Given the description of an element on the screen output the (x, y) to click on. 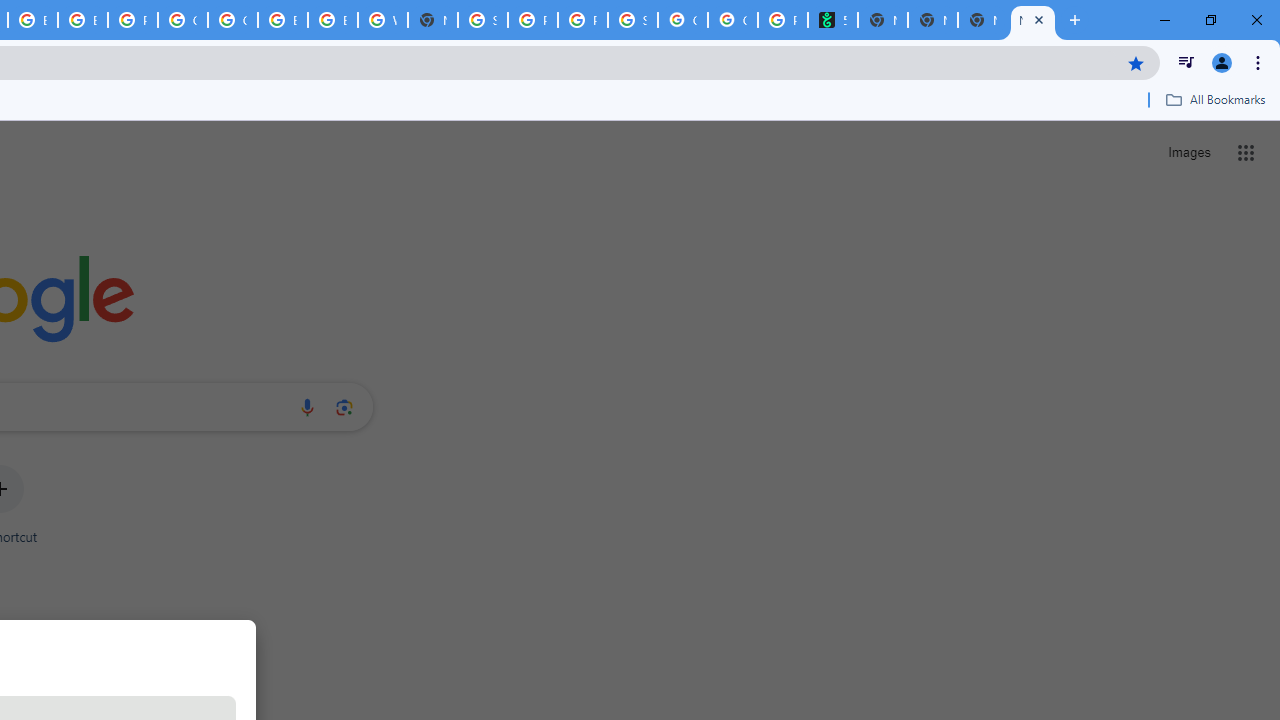
New Tab (1032, 20)
New Tab (433, 20)
New Tab (932, 20)
Google Cloud Platform (232, 20)
